Given the description of an element on the screen output the (x, y) to click on. 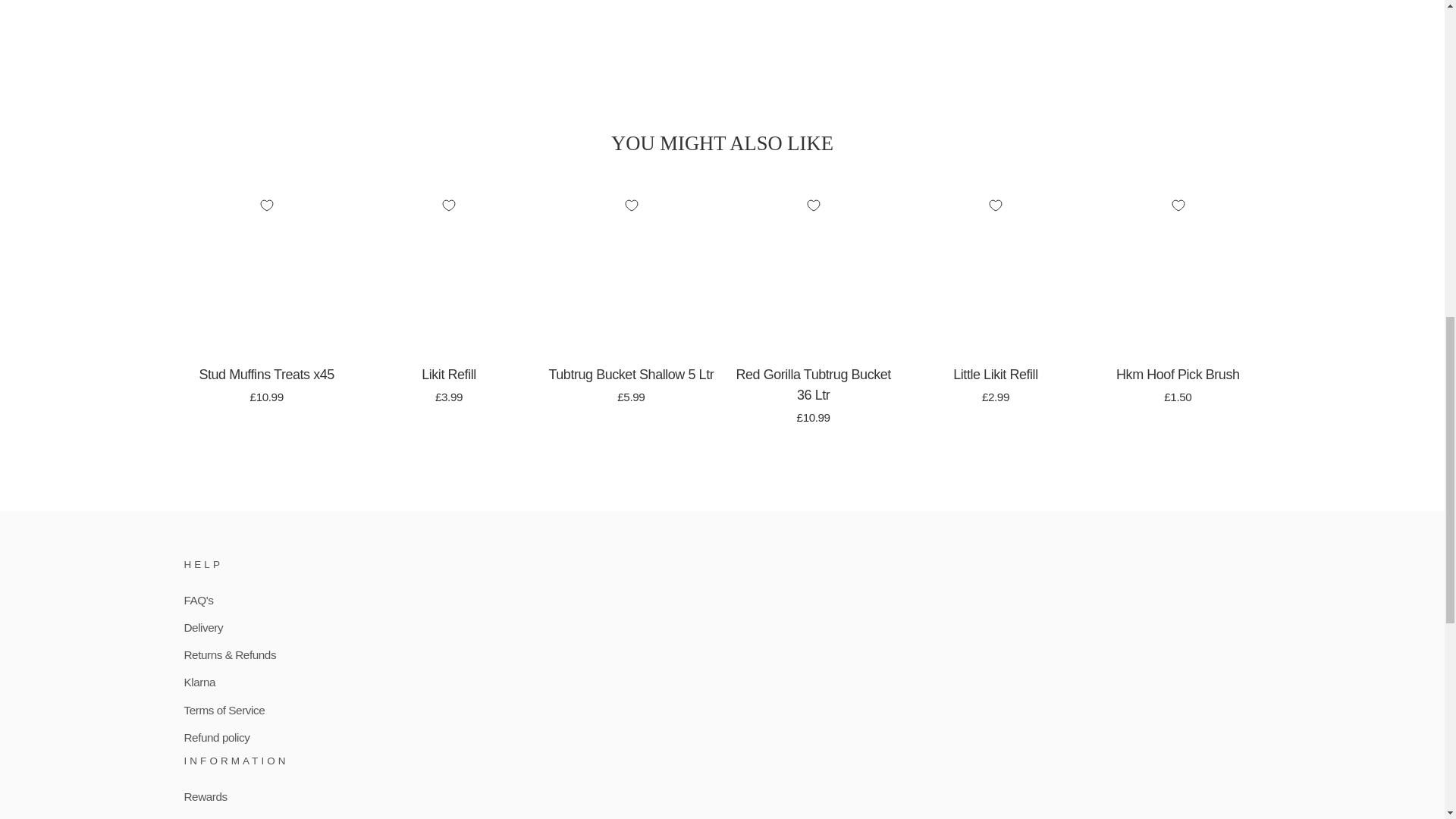
Add to Wishlist (266, 205)
Add to Wishlist (631, 205)
Add to Wishlist (1177, 205)
Add to Wishlist (995, 205)
Add to Wishlist (813, 205)
Add to Wishlist (449, 205)
